Given the description of an element on the screen output the (x, y) to click on. 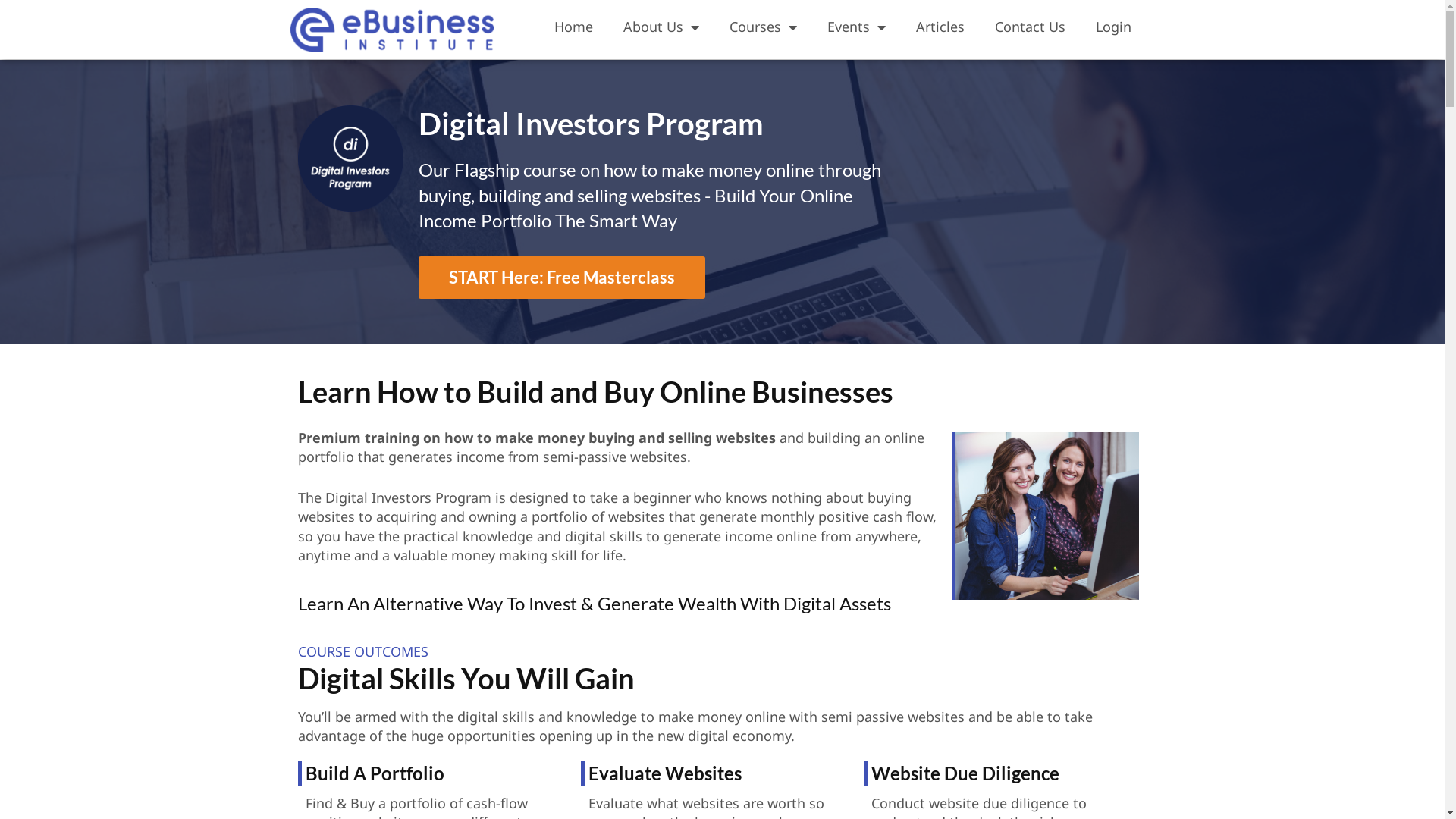
Articles Element type: text (939, 26)
Contact Us Element type: text (1029, 26)
Login Element type: text (1113, 26)
START Here: Free Masterclass Element type: text (561, 277)
Events Element type: text (856, 26)
About Us Element type: text (661, 26)
Courses Element type: text (763, 26)
Home Element type: text (573, 26)
